Given the description of an element on the screen output the (x, y) to click on. 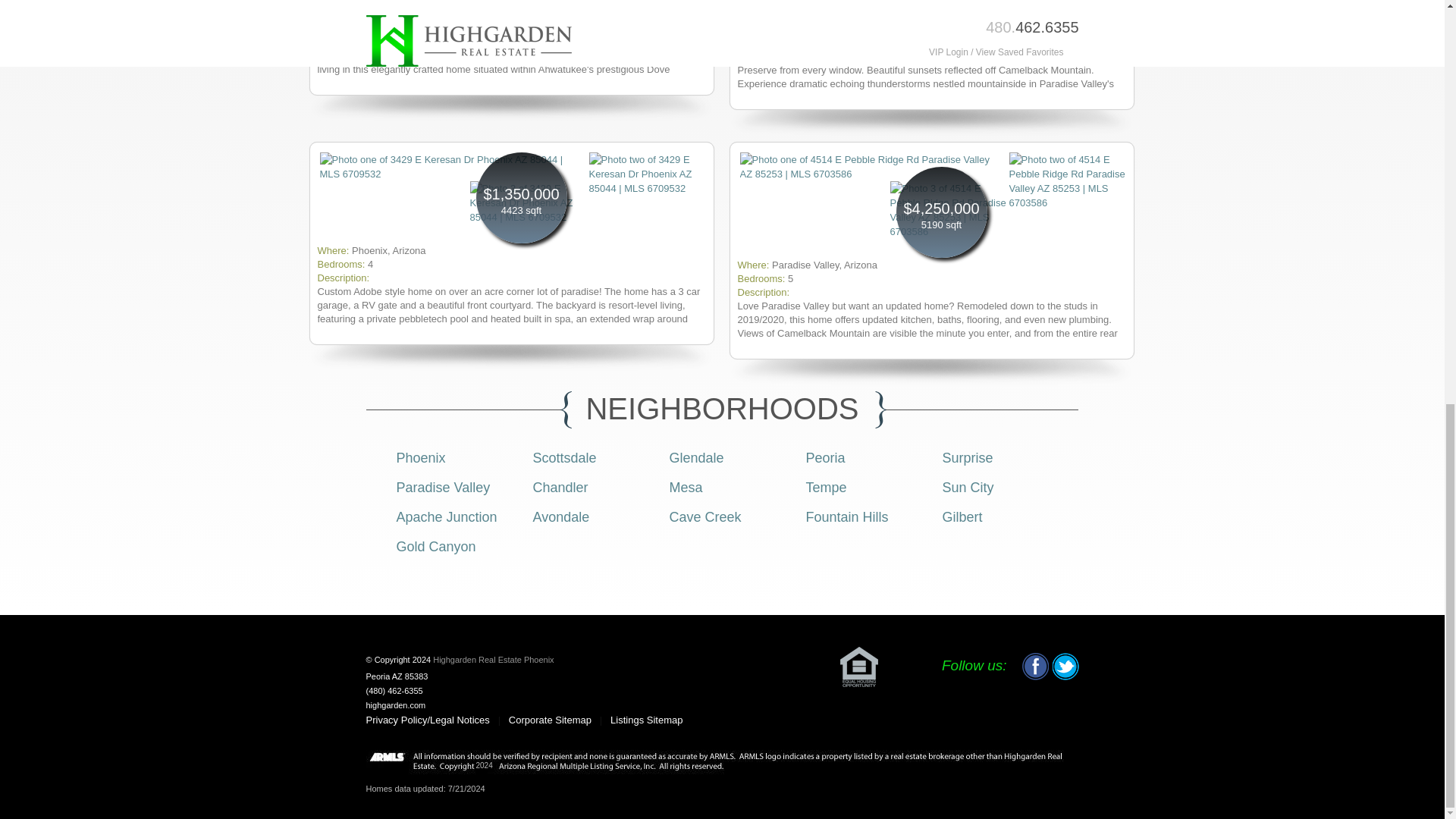
Surprise (967, 458)
Paradise Valley (442, 487)
Mesa (684, 487)
Peoria (824, 458)
Sun City (967, 487)
Scottsdale (563, 458)
Chandler (560, 487)
Tempe (825, 487)
Glendale (695, 458)
Phoenix (420, 458)
